Given the description of an element on the screen output the (x, y) to click on. 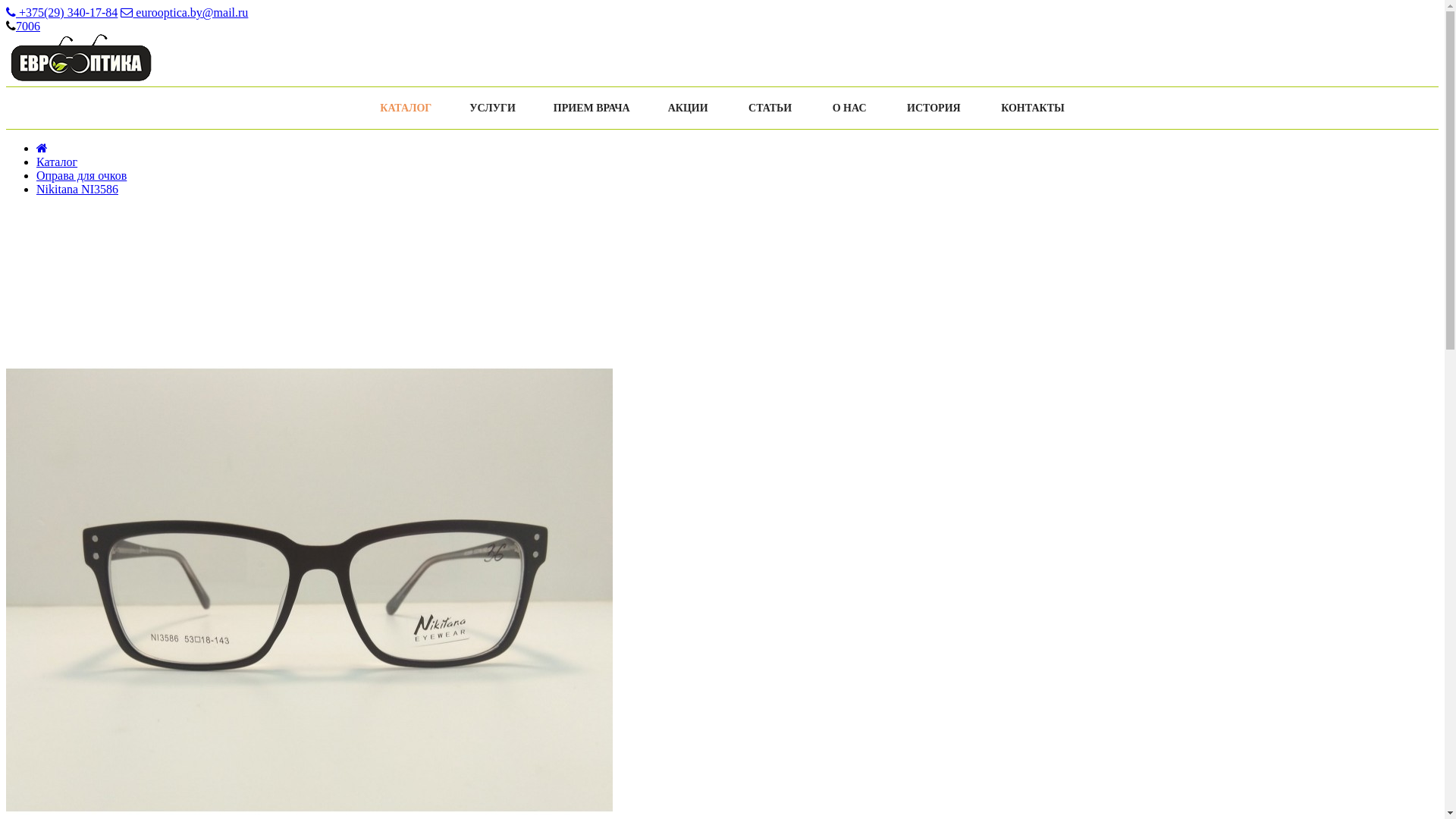
eurooptica.by@mail.ru Element type: text (183, 12)
Nikitana NI3586 Element type: text (77, 188)
+375(29) 340-17-84 Element type: text (61, 12)
7006 Element type: text (27, 25)
